Given the description of an element on the screen output the (x, y) to click on. 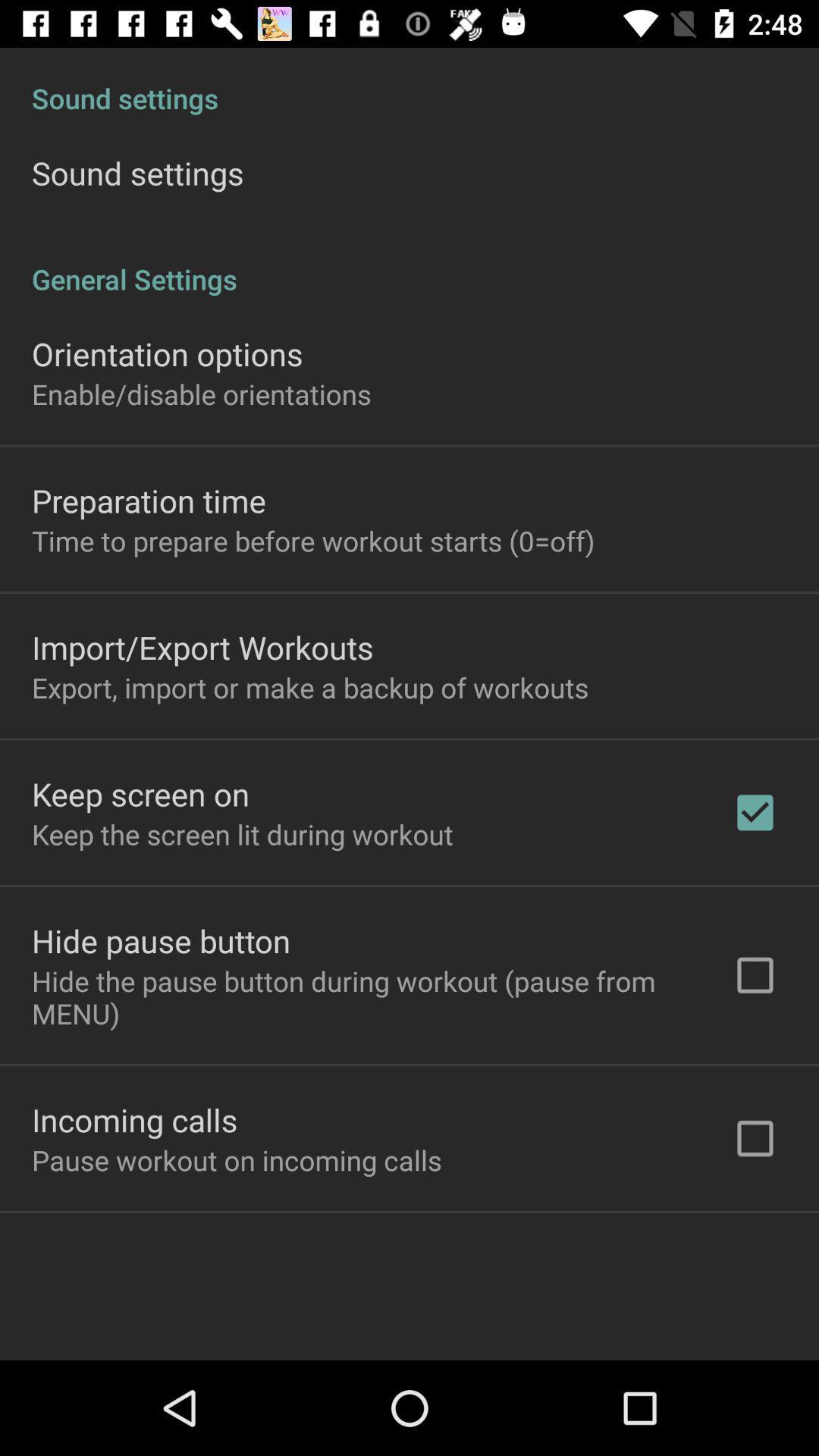
launch the icon above the import/export workouts icon (312, 540)
